Given the description of an element on the screen output the (x, y) to click on. 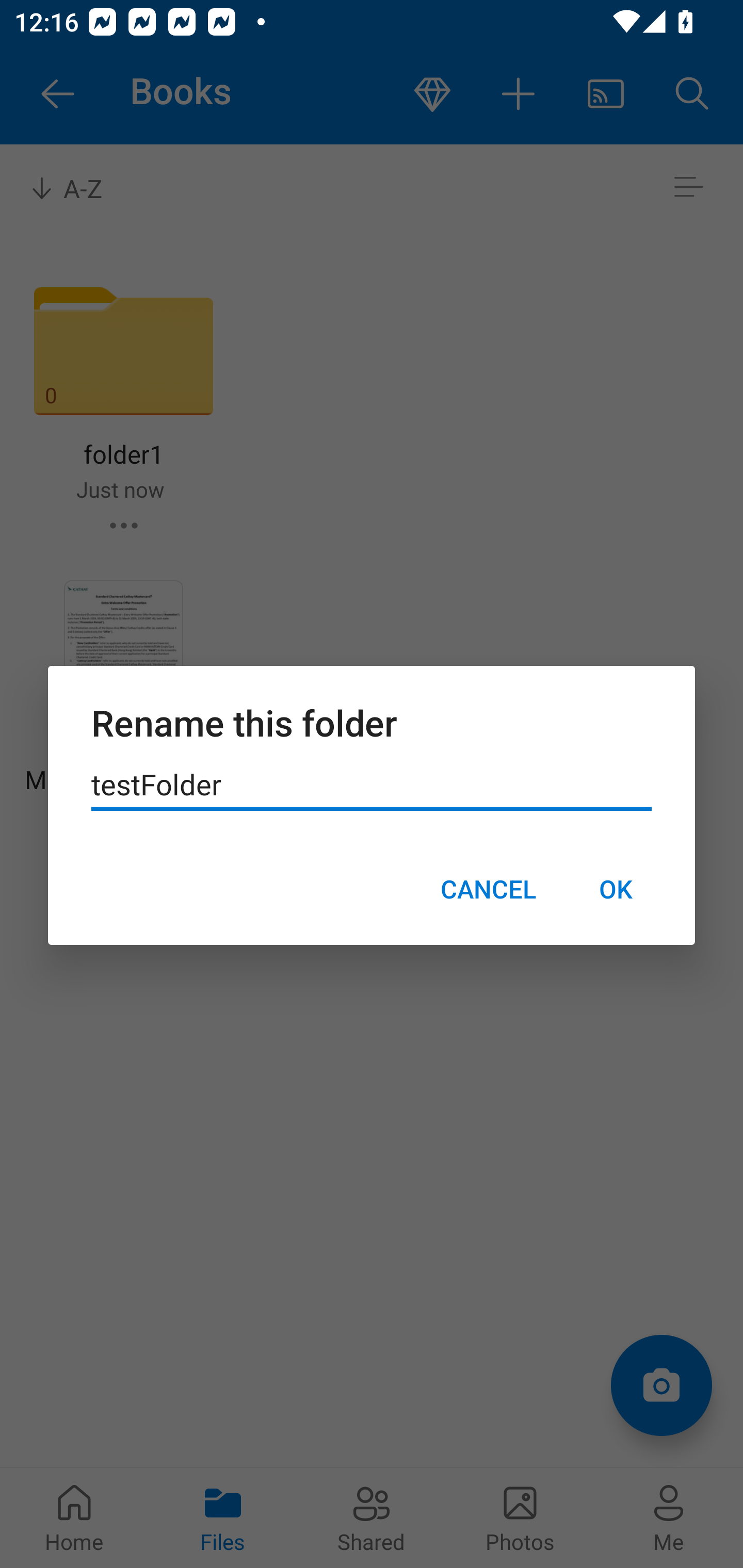
testFolder (371, 784)
CANCEL (488, 888)
OK (615, 888)
